Given the description of an element on the screen output the (x, y) to click on. 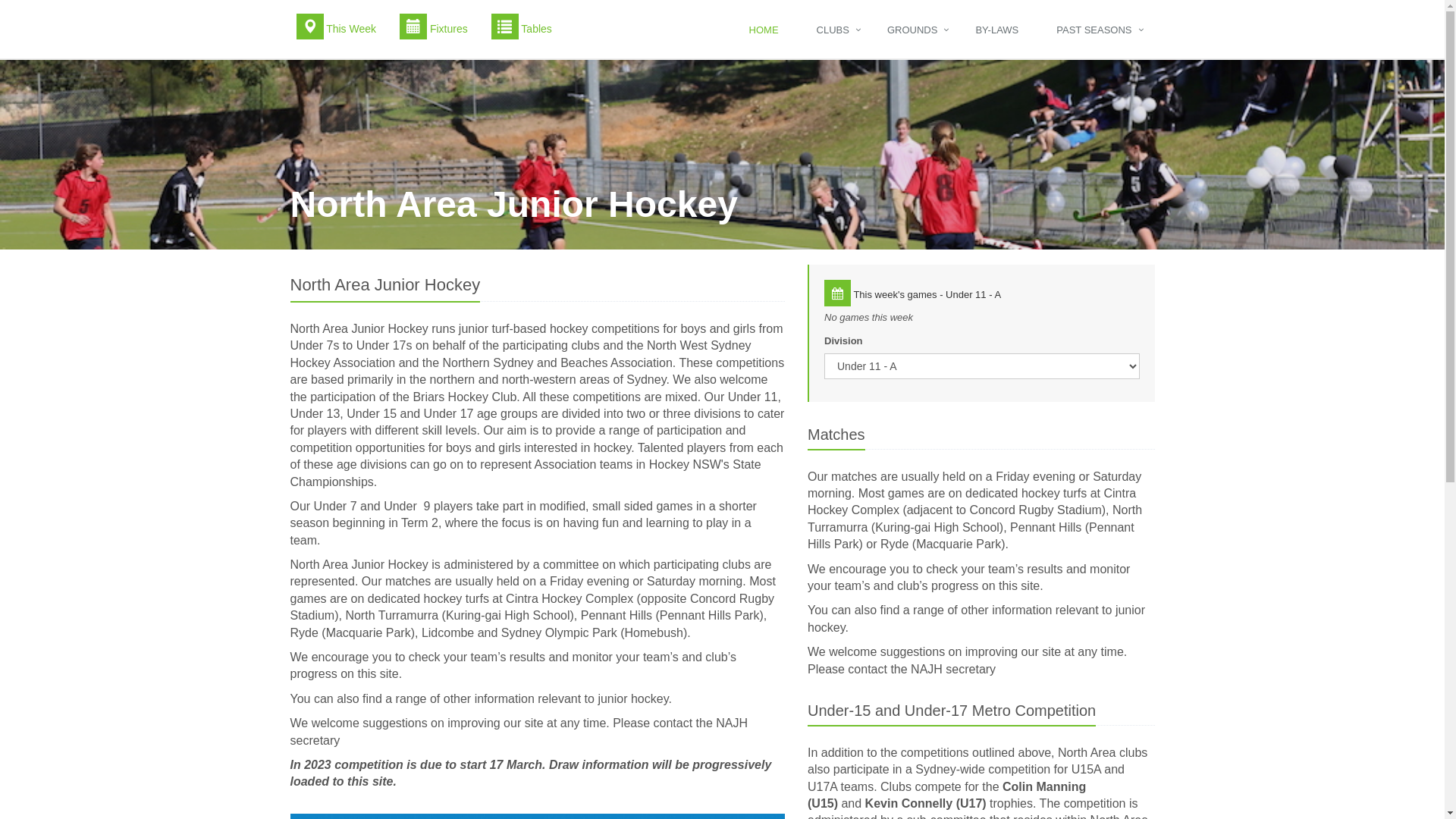
BY-LAWS Element type: text (1000, 29)
PAST SEASONS Element type: text (1097, 29)
HOME Element type: text (767, 29)
CLUBS Element type: text (836, 29)
GROUNDS Element type: text (916, 29)
Fixtures Element type: text (433, 27)
This Week Element type: text (336, 27)
Tables Element type: text (521, 27)
